Given the description of an element on the screen output the (x, y) to click on. 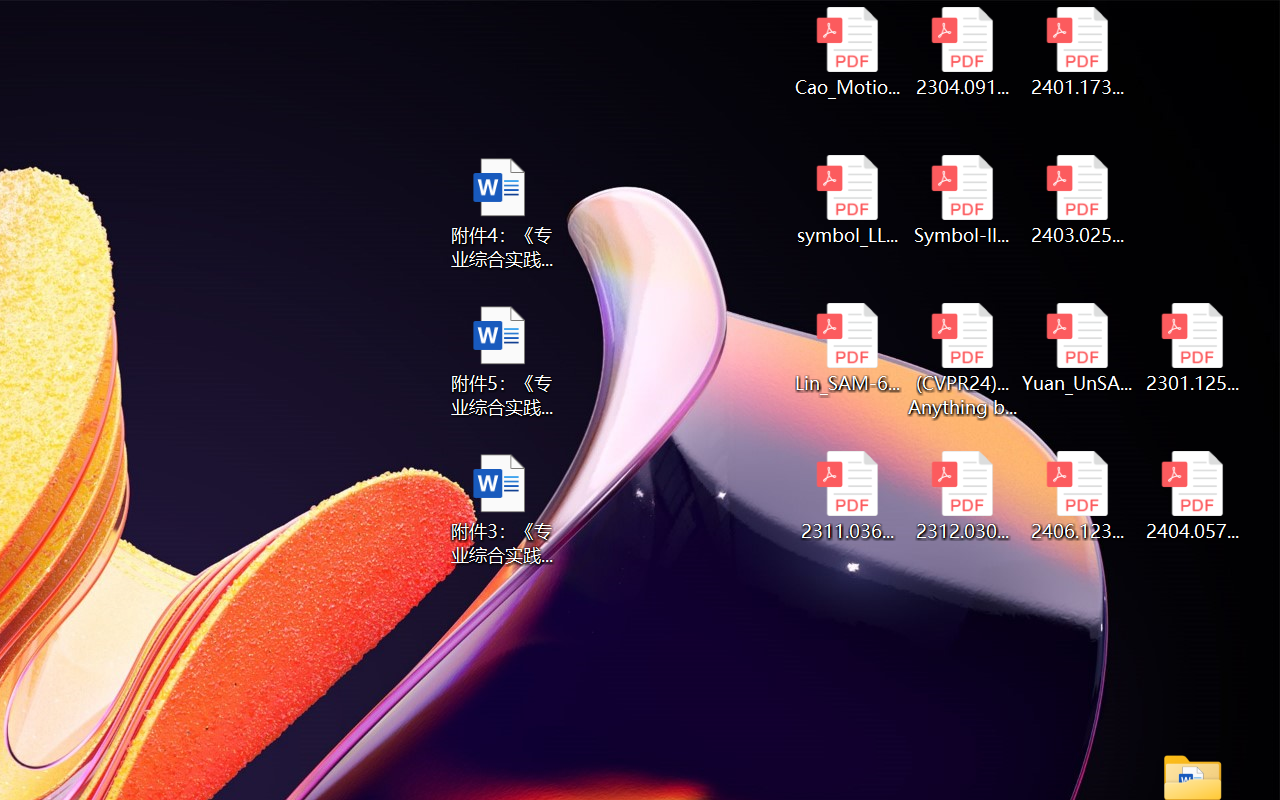
2406.12373v2.pdf (1077, 496)
2404.05719v1.pdf (1192, 496)
(CVPR24)Matching Anything by Segmenting Anything.pdf (962, 360)
Symbol-llm-v2.pdf (962, 200)
2312.03032v2.pdf (962, 496)
2301.12597v3.pdf (1192, 348)
2403.02502v1.pdf (1077, 200)
symbol_LLM.pdf (846, 200)
2304.09121v3.pdf (962, 52)
2311.03658v2.pdf (846, 496)
2401.17399v1.pdf (1077, 52)
